Given the description of an element on the screen output the (x, y) to click on. 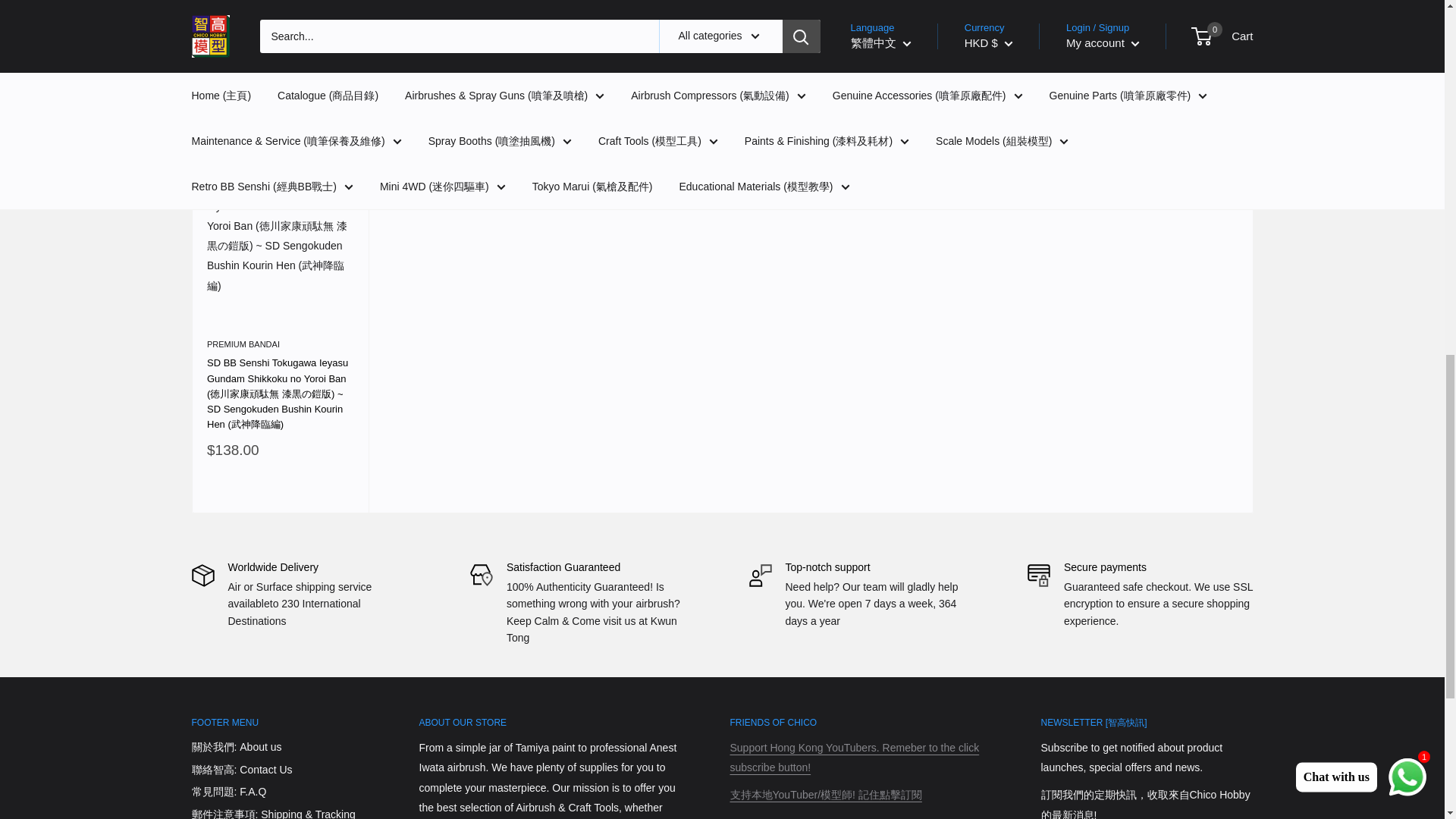
Friends of Chico (825, 794)
